Given the description of an element on the screen output the (x, y) to click on. 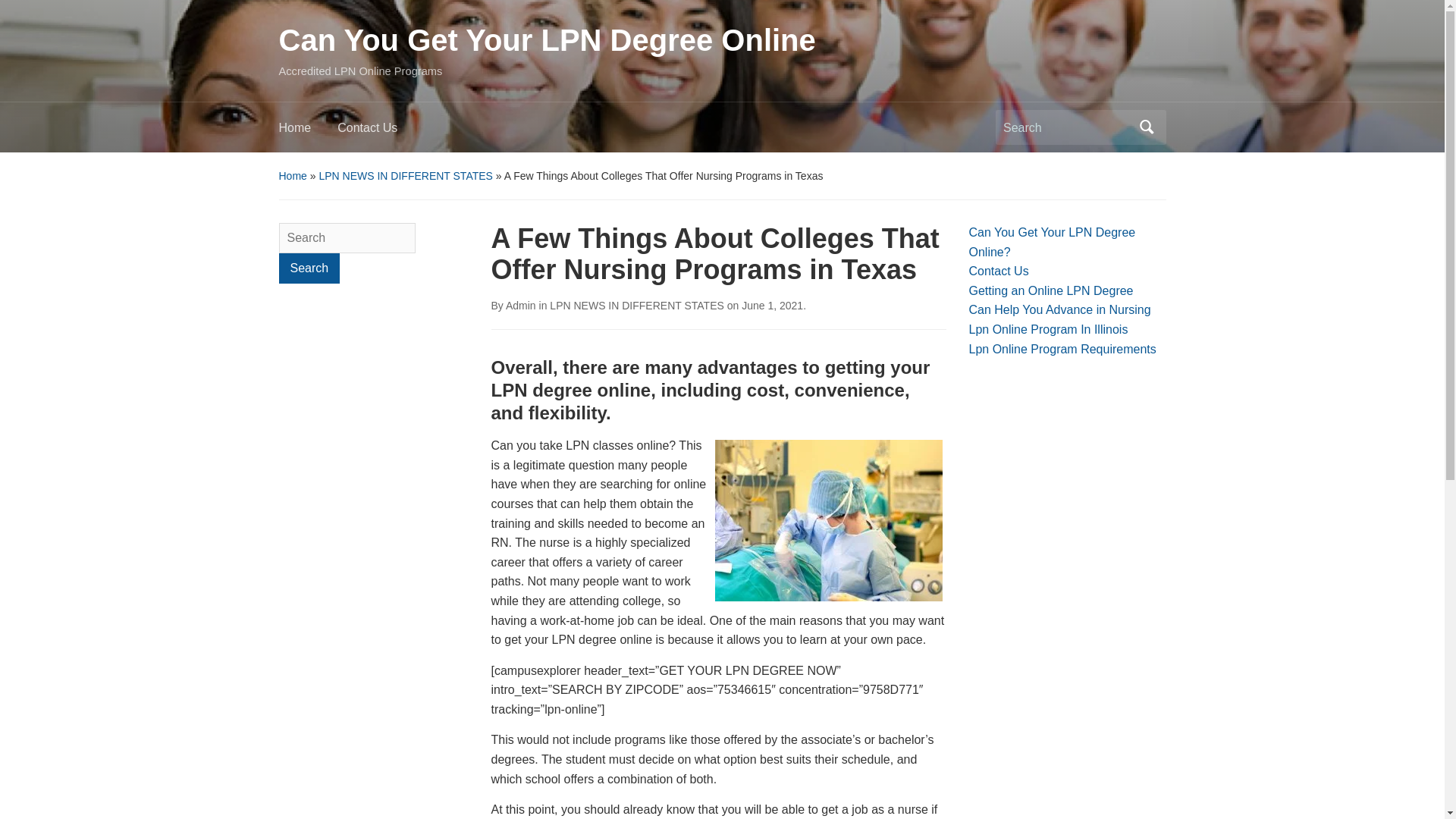
Contact Us (380, 131)
Getting an Online LPN Degree Can Help You Advance in Nursing (1060, 300)
12:00 am (772, 305)
Search (309, 268)
View all posts by Admin (520, 305)
Lpn Online Program In Illinois (1048, 328)
Contact Us (999, 270)
Home (308, 131)
Admin (520, 305)
Can You Get Your LPN Degree Online? (1052, 242)
LPN NEWS IN DIFFERENT STATES (405, 175)
Home (293, 175)
June 1, 2021 (772, 305)
Can You Get Your LPN Degree Online (547, 39)
Lpn Online Program Requirements (1062, 349)
